Given the description of an element on the screen output the (x, y) to click on. 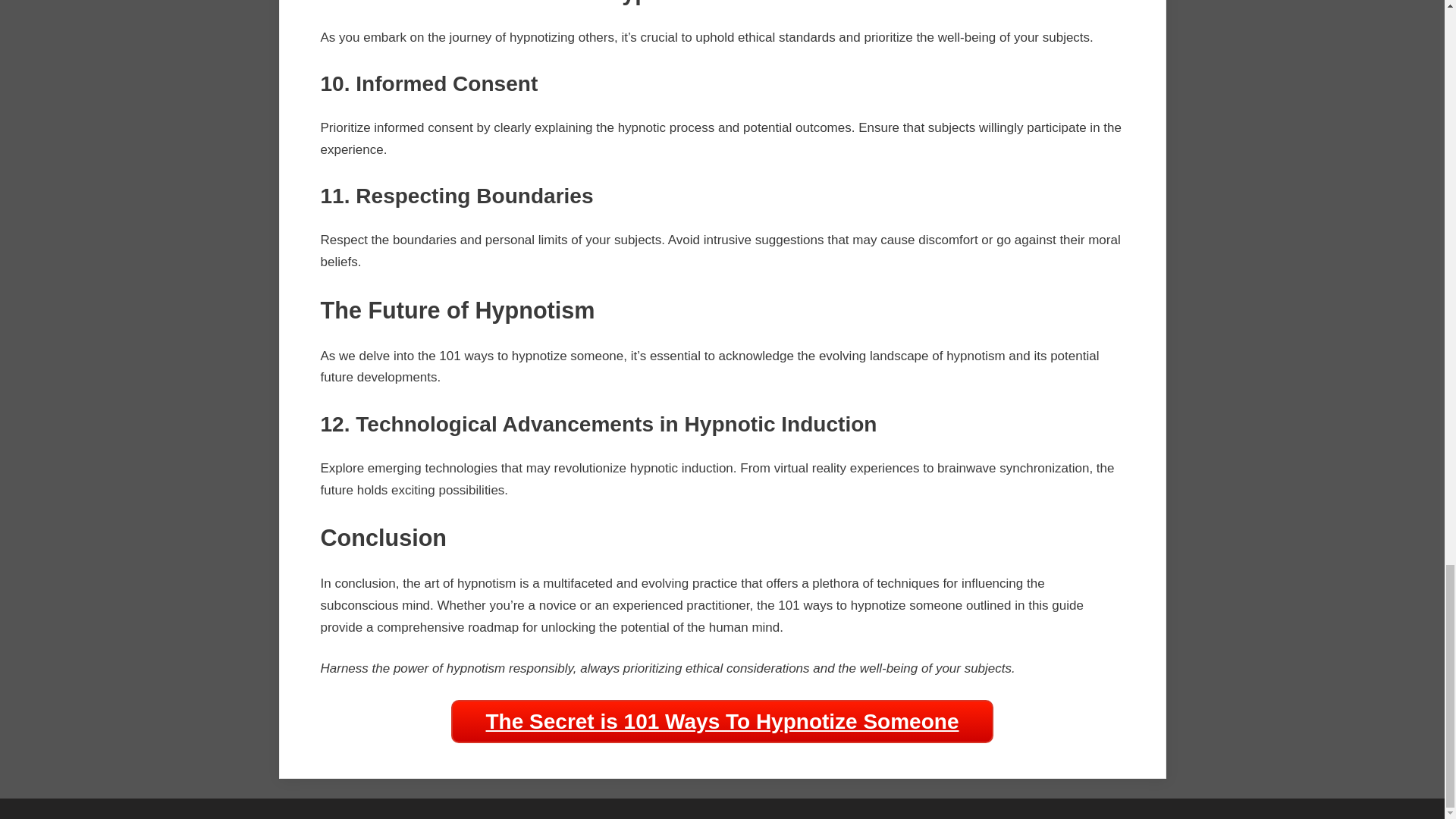
The Secret is 101 Ways To Hypnotize Someone (722, 721)
101 Ways To Hypnotize Someone (722, 721)
